Given the description of an element on the screen output the (x, y) to click on. 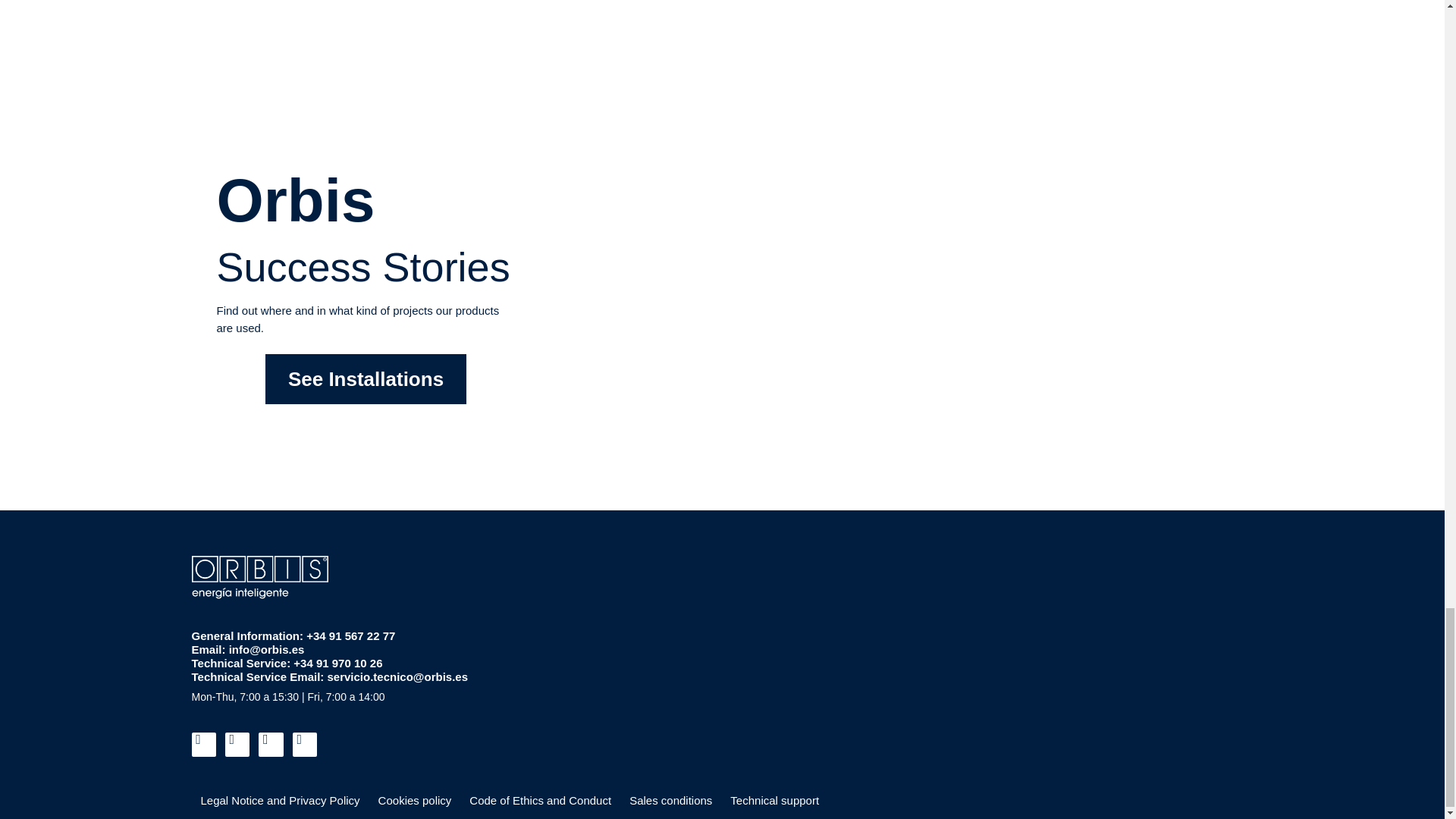
Code of Ethics and Conduct (540, 800)
Sales conditions (670, 800)
Cookies policy (415, 800)
See Installations (365, 379)
Legal Notice and Privacy Policy (279, 800)
Technical support (774, 800)
